Given the description of an element on the screen output the (x, y) to click on. 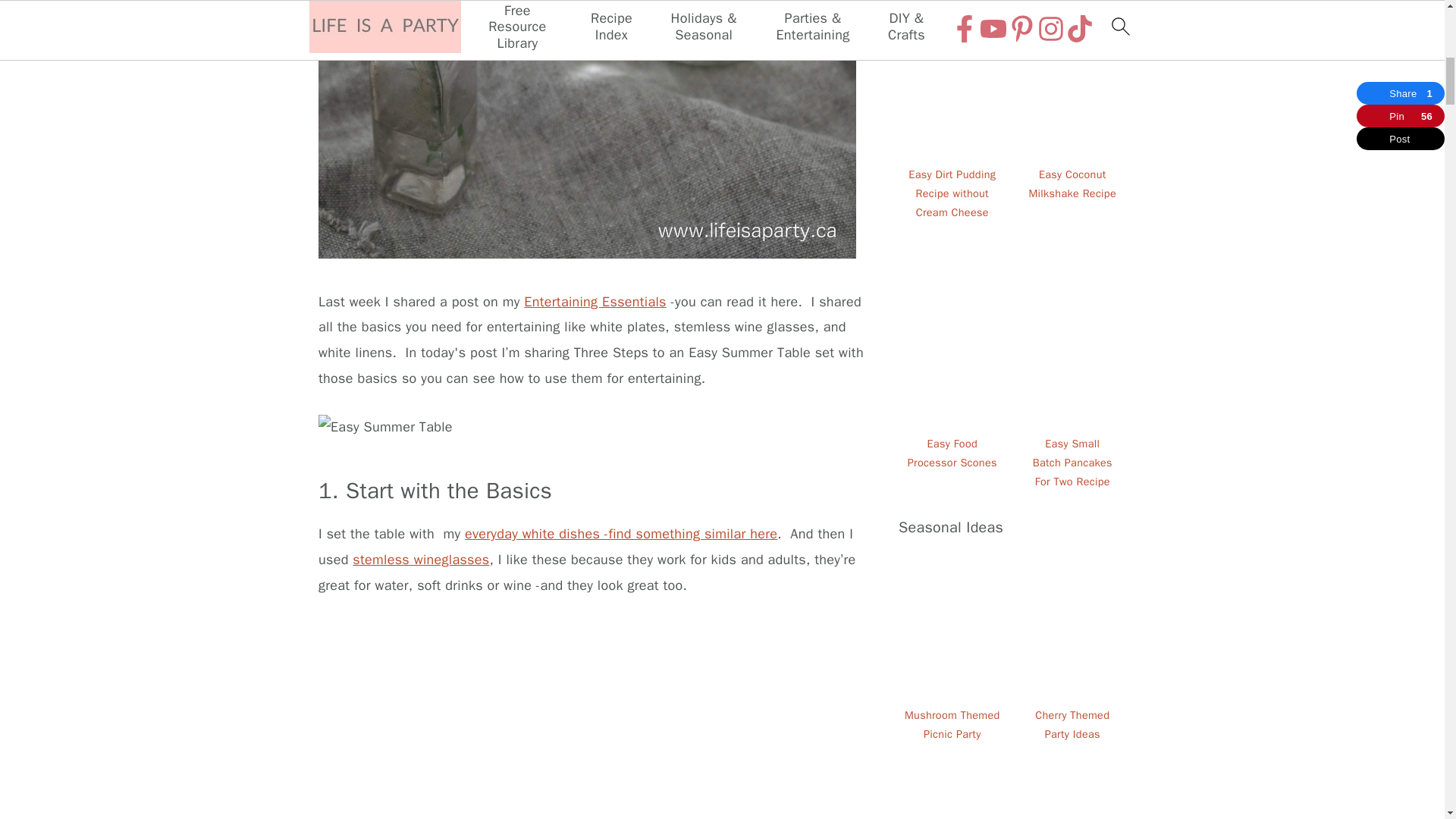
summer-table 2.JPG (385, 427)
summer-table 10.JPG (587, 720)
